Given the description of an element on the screen output the (x, y) to click on. 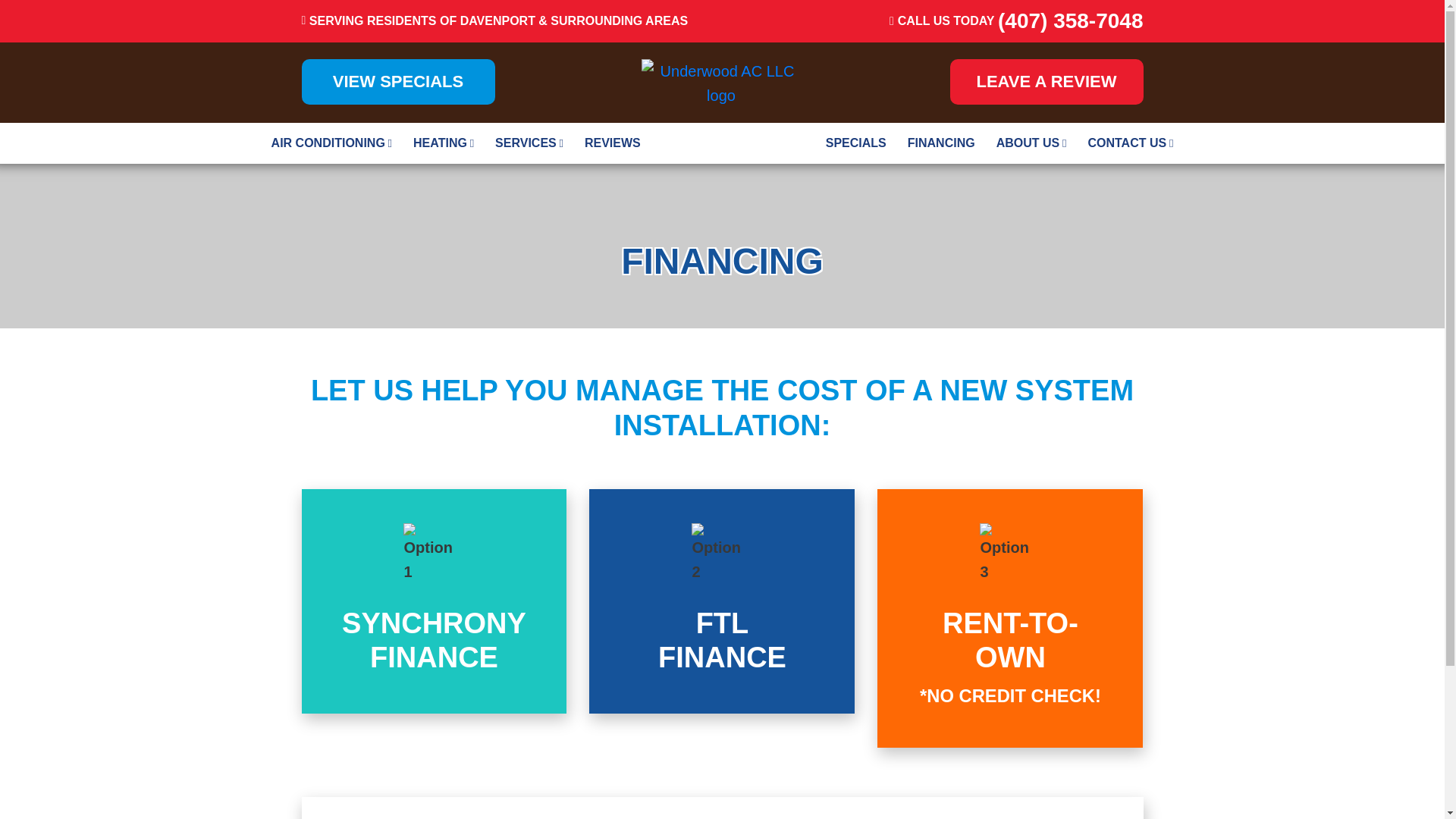
SPECIALS (855, 142)
VIEW SPECIALS (398, 81)
HEATING (434, 600)
ABOUT US (443, 142)
REVIEWS (434, 600)
AIR CONDITIONING (1031, 142)
SERVICES (611, 142)
LEAVE A REVIEW (331, 142)
Underwood AC LLC (721, 600)
FINANCING (528, 142)
CONTACT US (1045, 81)
